Given the description of an element on the screen output the (x, y) to click on. 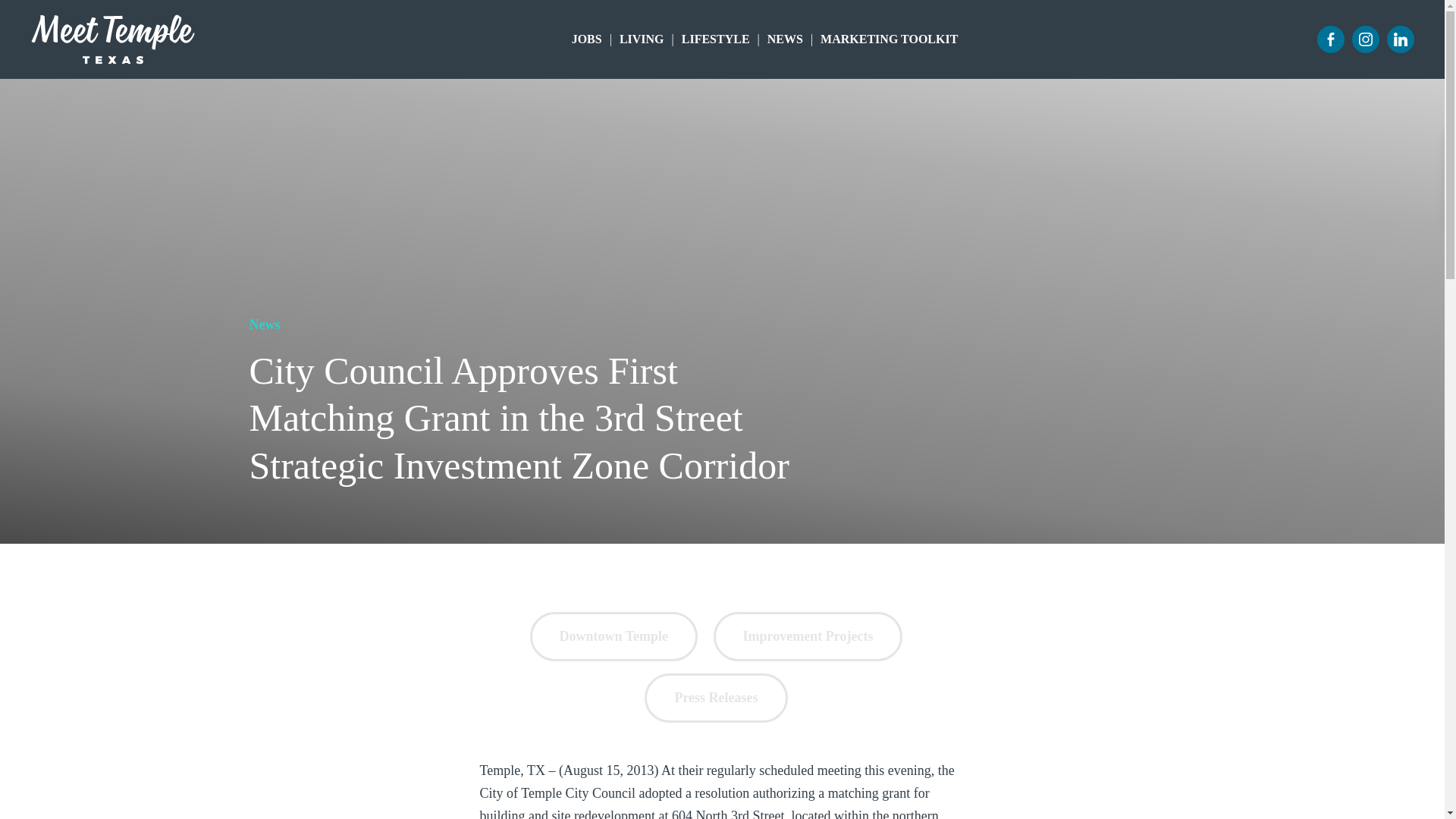
LIVING (641, 39)
Press Releases (716, 697)
Downtown Temple (613, 635)
Improvement Projects (807, 635)
MARKETING TOOLKIT (888, 39)
JOBS (587, 39)
NEWS (785, 39)
LIFESTYLE (715, 39)
